Given the description of an element on the screen output the (x, y) to click on. 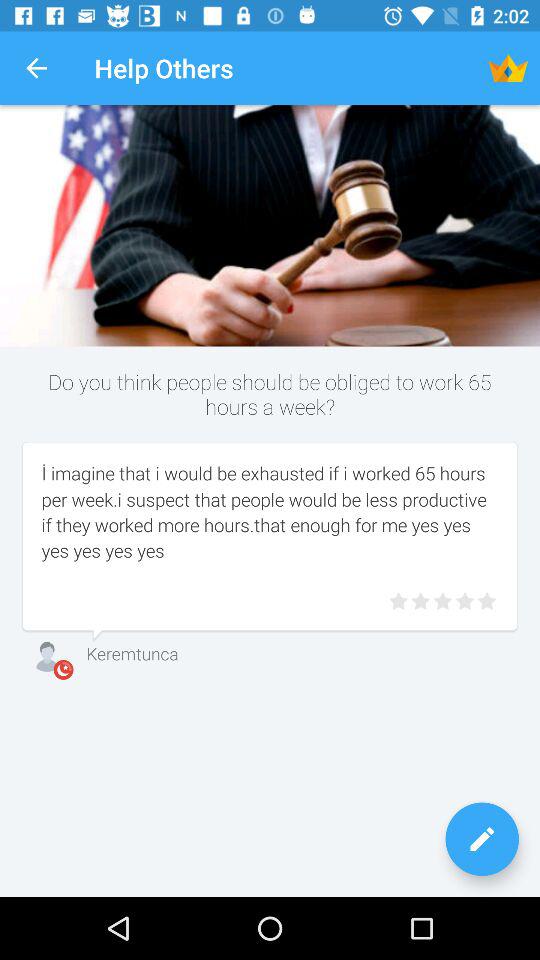
launch the icon next to help others item (508, 67)
